Given the description of an element on the screen output the (x, y) to click on. 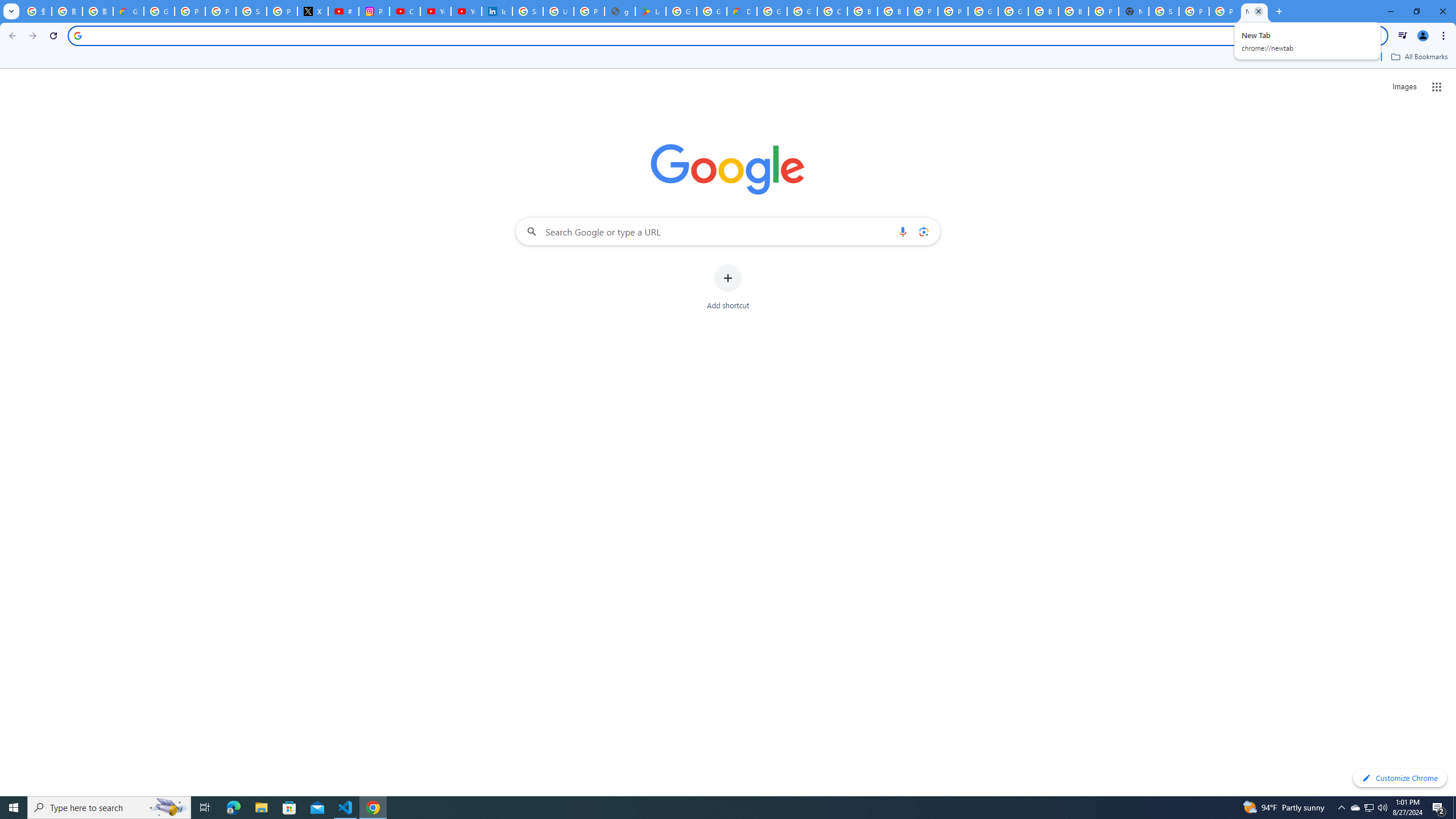
Sign in - Google Accounts (1163, 11)
Google Cloud Platform (982, 11)
Sign in - Google Accounts (527, 11)
